Given the description of an element on the screen output the (x, y) to click on. 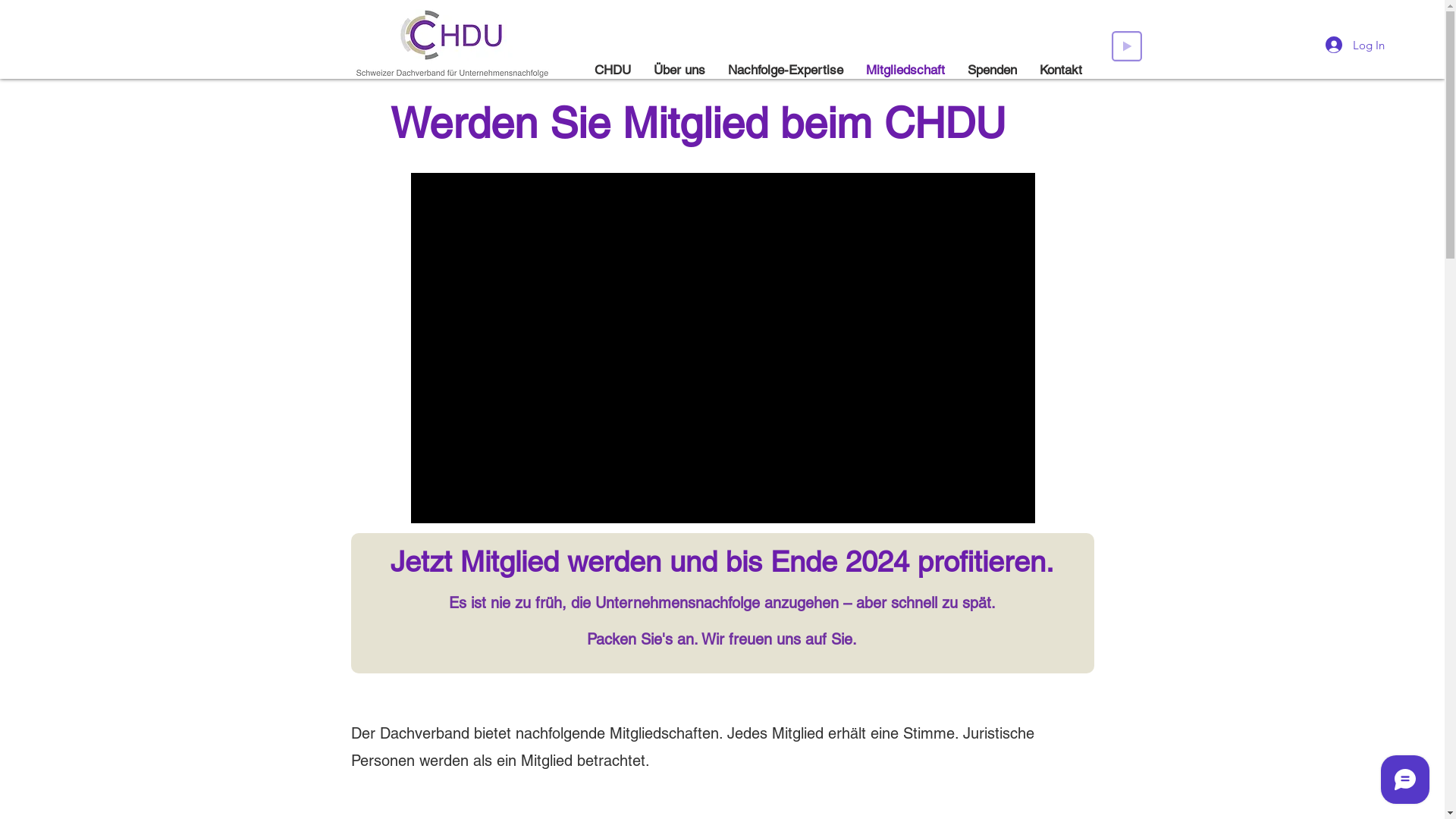
Nachfolge-Expertise Element type: text (784, 69)
Spenden Element type: text (991, 69)
Mitgliedschaft Element type: text (904, 69)
Kontakt Element type: text (1060, 69)
CHDU Element type: text (611, 69)
Log In Element type: text (1354, 44)
CHDU_Logo_de.jpg Element type: hover (451, 43)
